Given the description of an element on the screen output the (x, y) to click on. 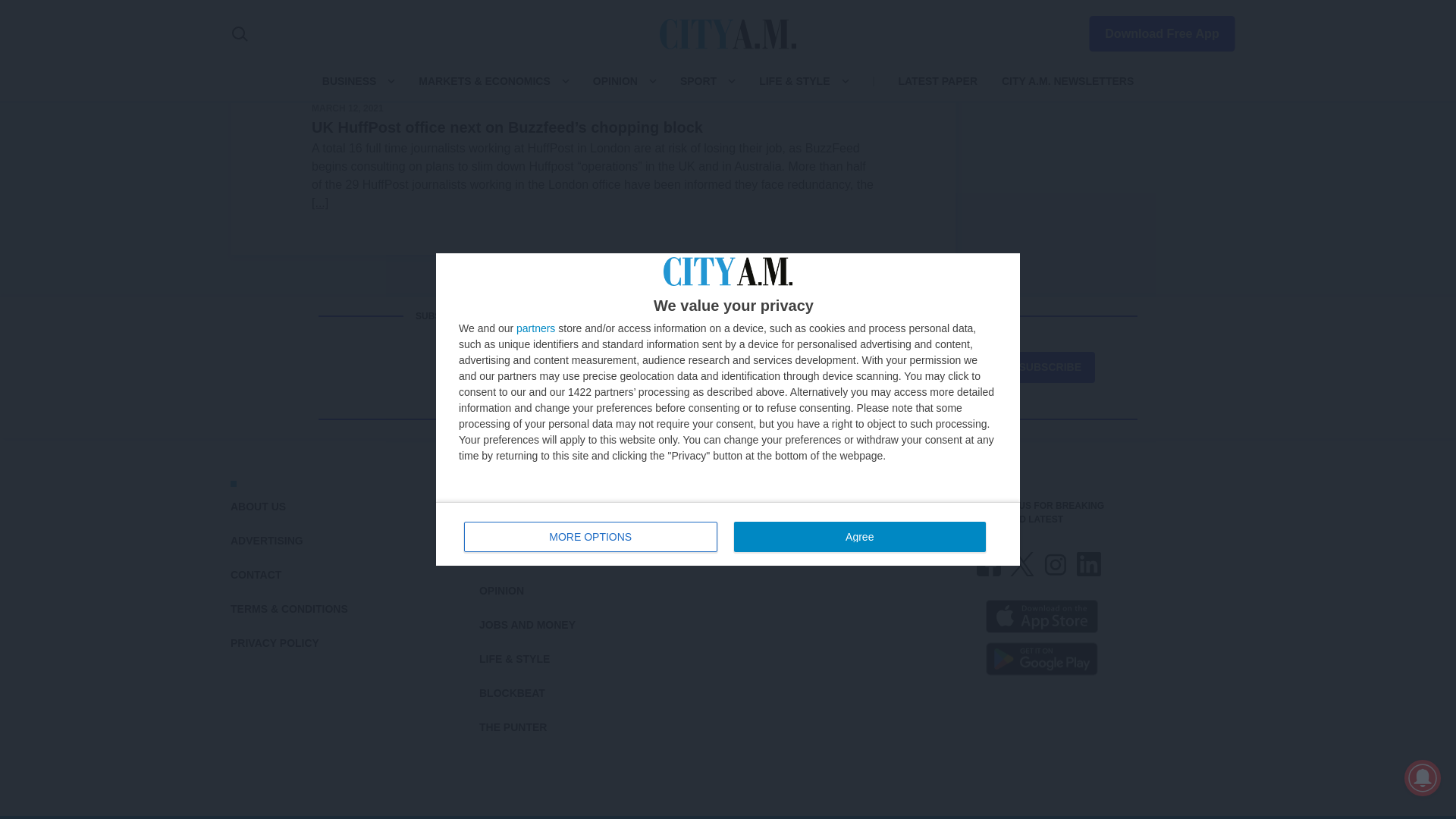
X (1021, 564)
INSTAGRAM (1055, 564)
LINKEDIN (1088, 564)
FACEBOOK (988, 564)
